Given the description of an element on the screen output the (x, y) to click on. 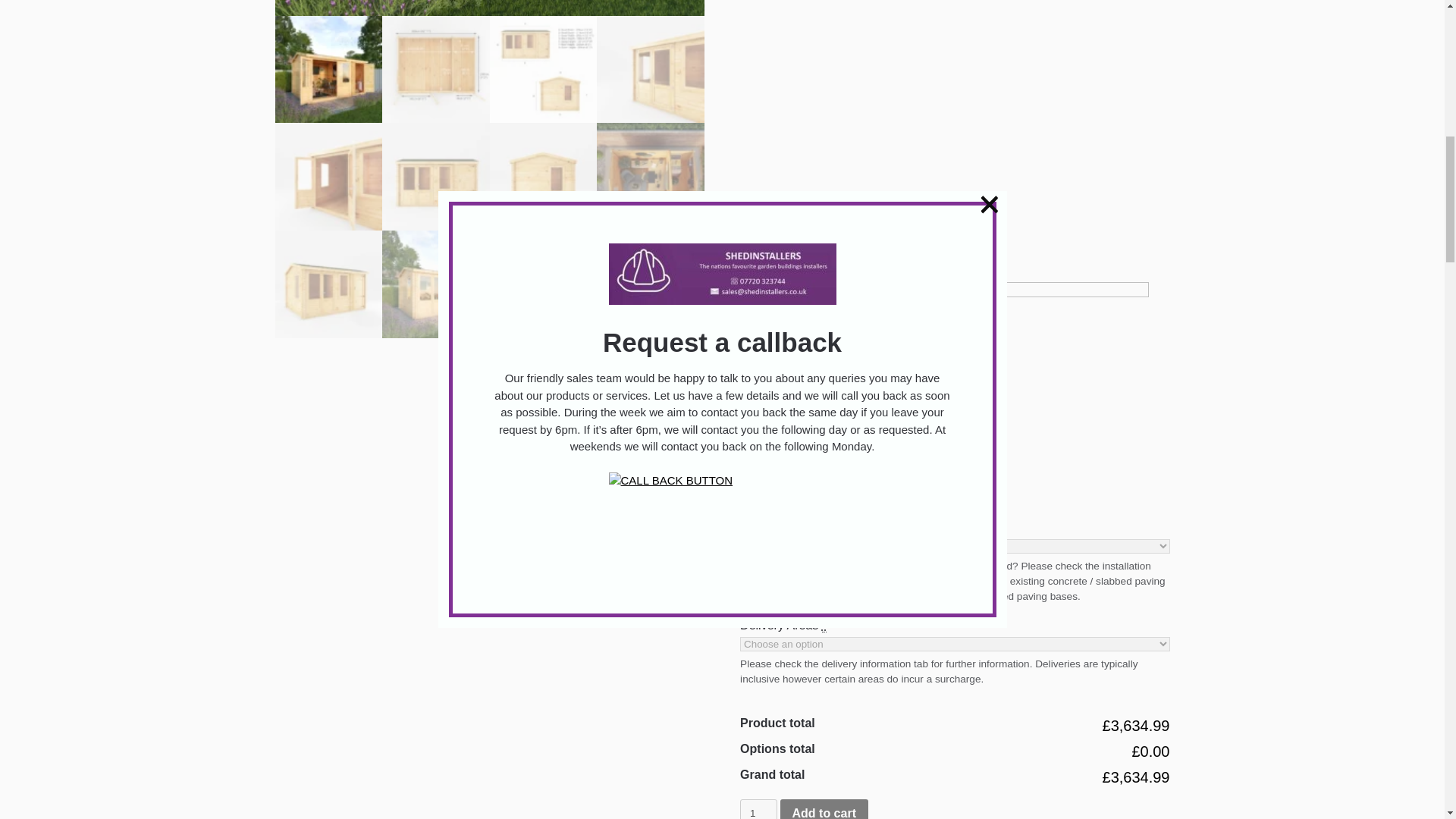
required (804, 527)
1 (757, 809)
required (824, 625)
